Given the description of an element on the screen output the (x, y) to click on. 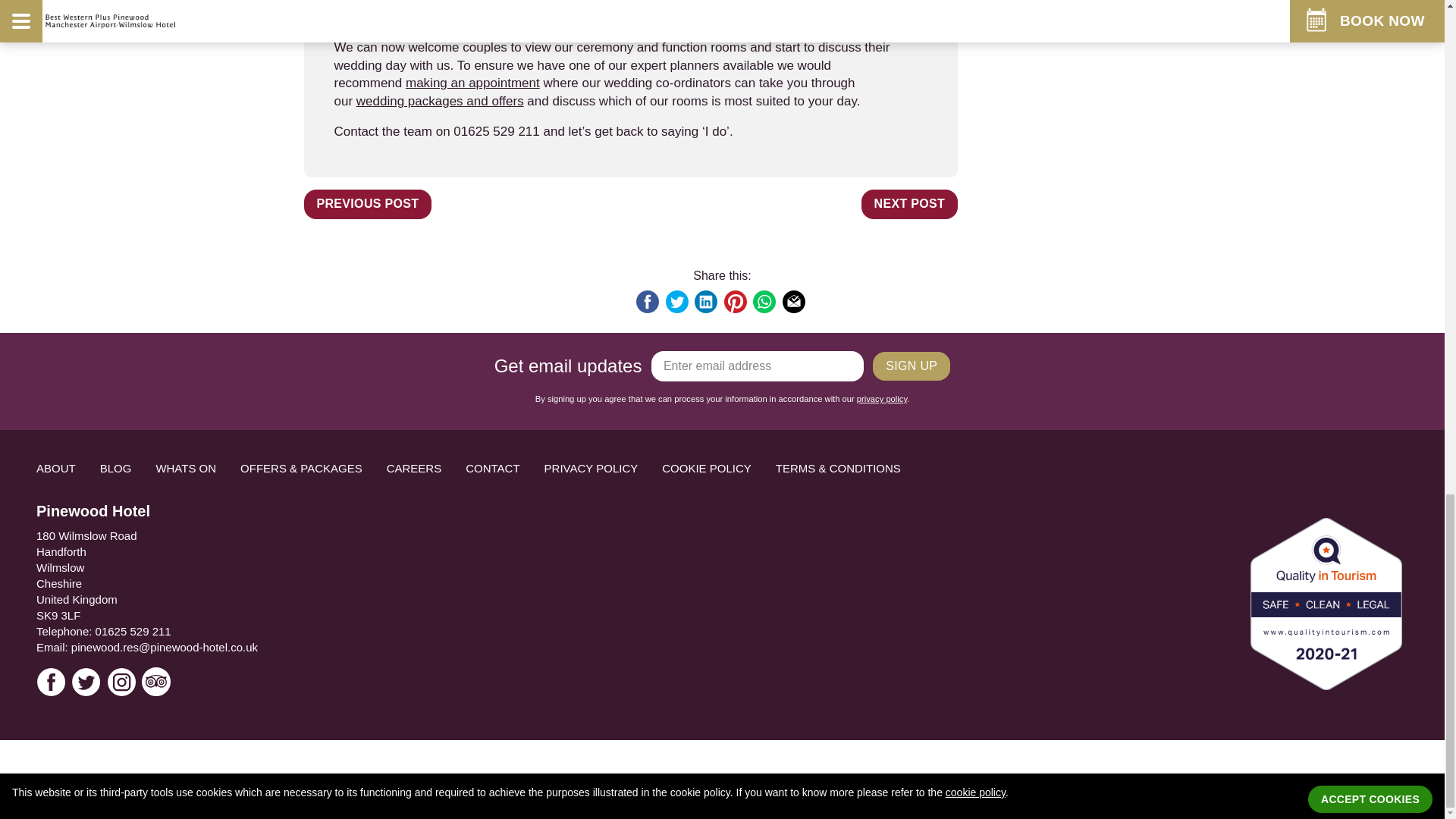
PREVIOUS POST (366, 204)
Privacy policy (882, 398)
Sign up (911, 366)
NEXT POST (909, 204)
wedding packages and offers (440, 101)
making an appointment (473, 83)
